Given the description of an element on the screen output the (x, y) to click on. 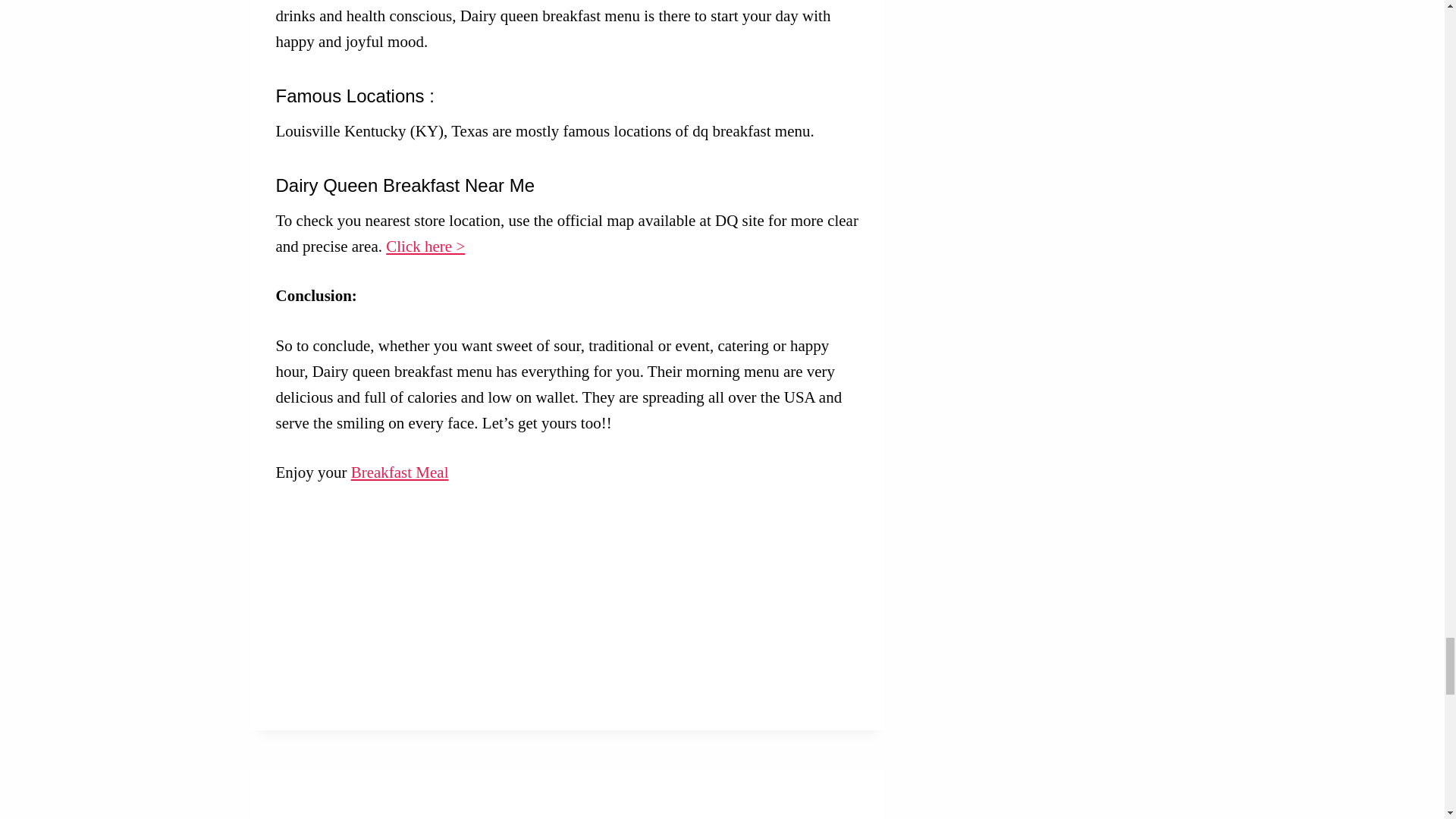
Breakfast Meal (399, 472)
